Given the description of an element on the screen output the (x, y) to click on. 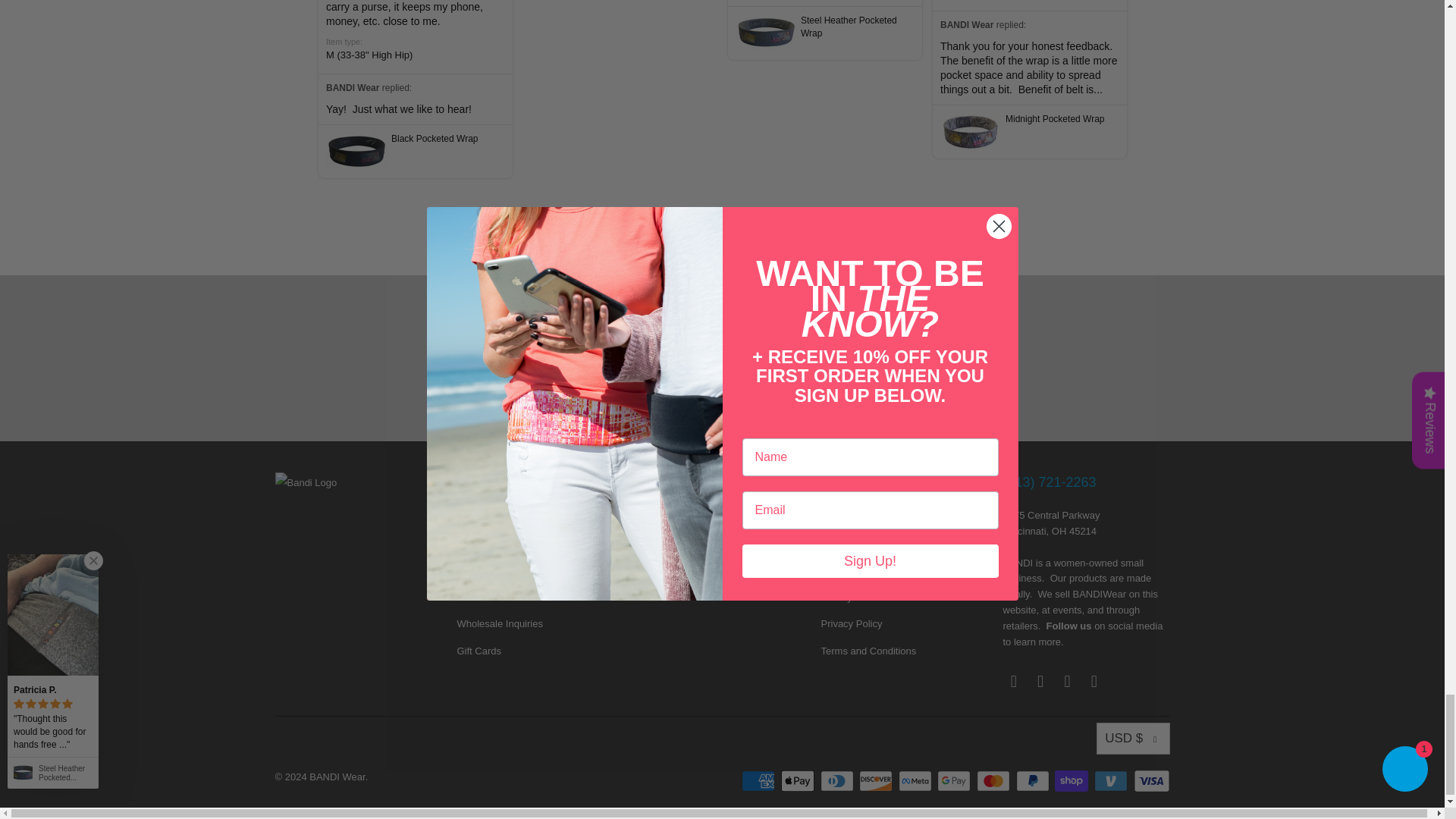
Sign Up (842, 390)
